Given the description of an element on the screen output the (x, y) to click on. 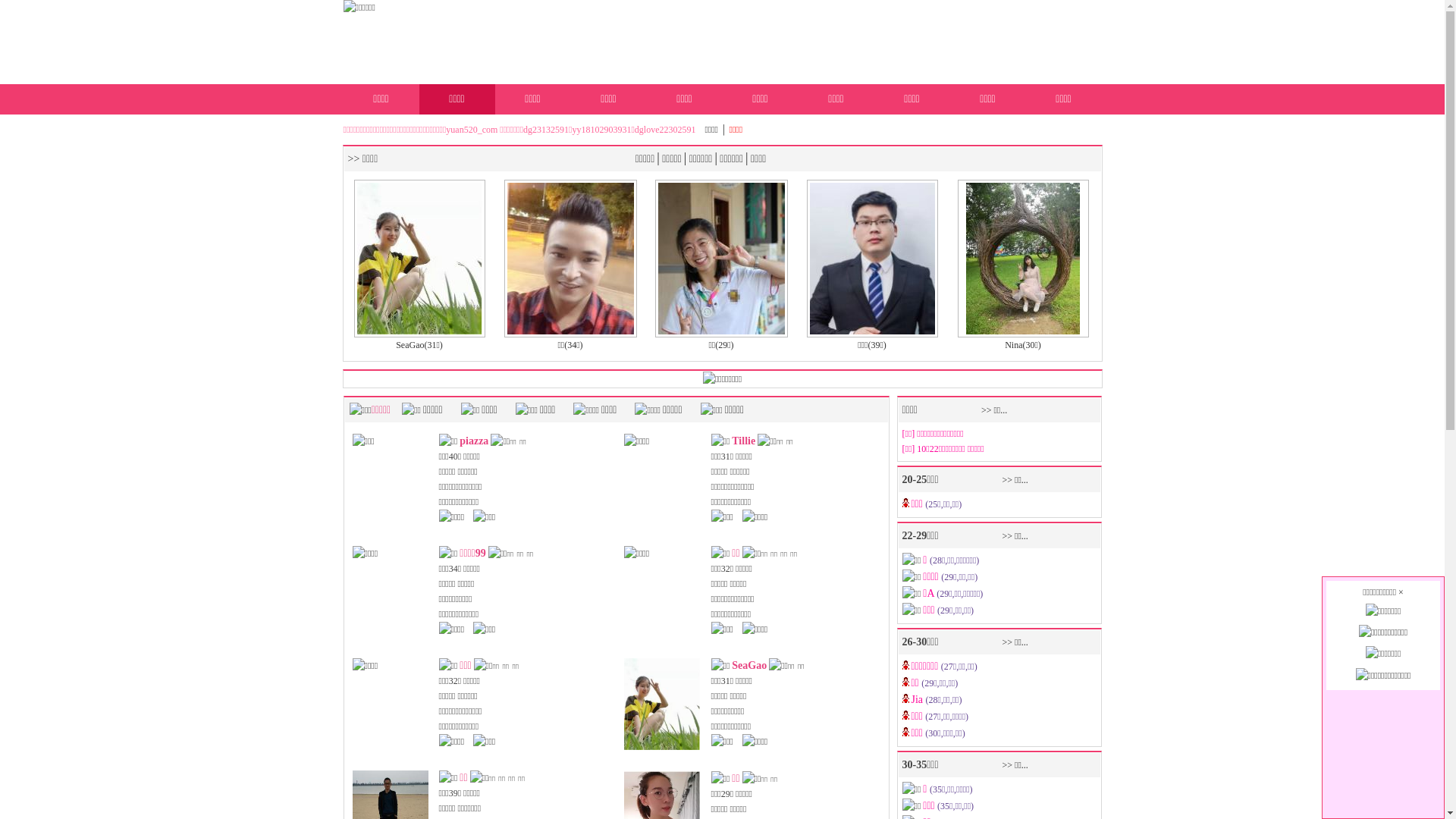
Jia Element type: text (918, 699)
SeaGao Element type: text (748, 665)
Tillie Element type: text (743, 440)
piazza Element type: text (473, 440)
